Given the description of an element on the screen output the (x, y) to click on. 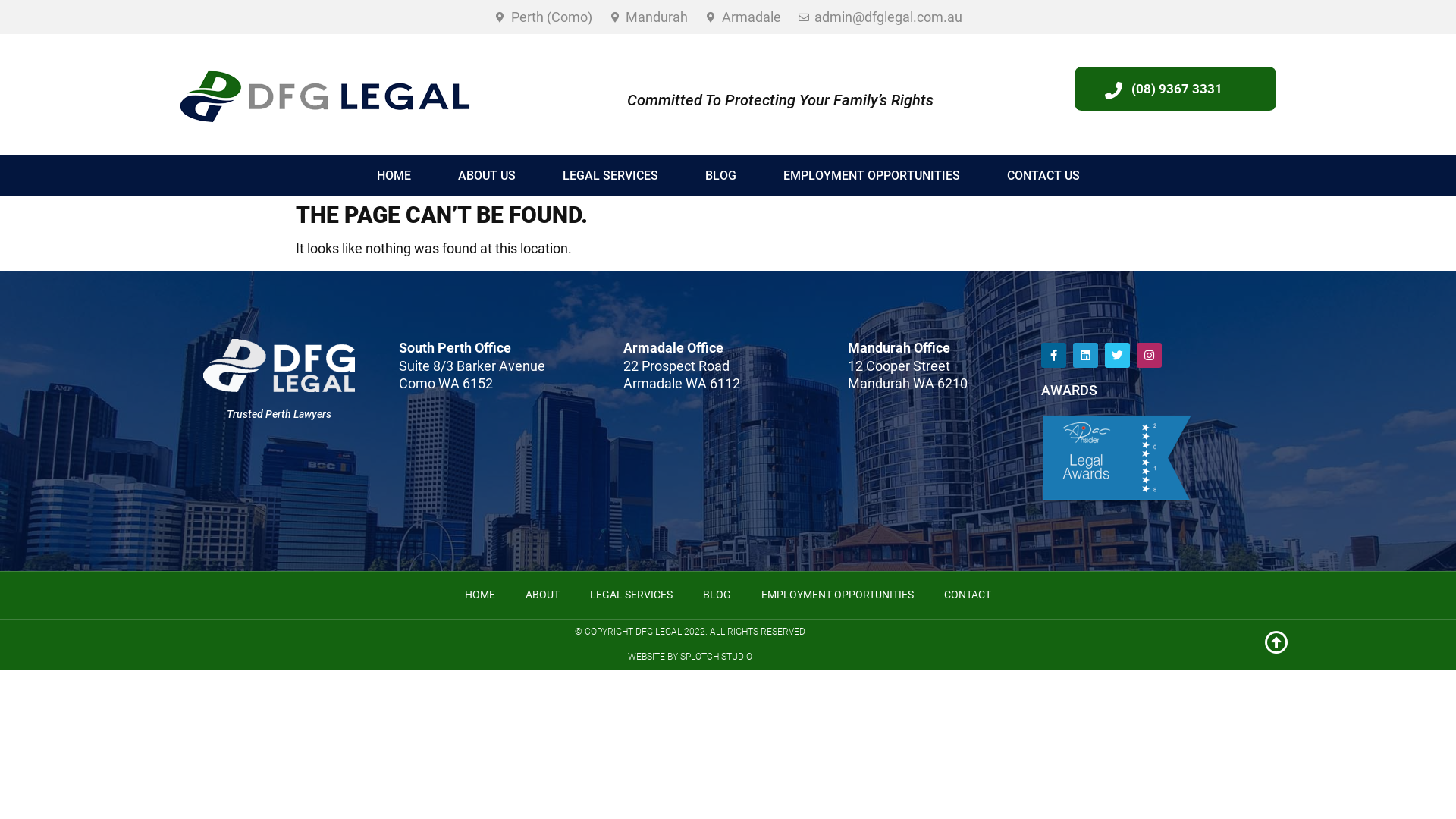
ABOUT Element type: text (542, 594)
ABOUT US Element type: text (485, 175)
admin@dfglegal.com.au Element type: text (880, 16)
Perth (Como) Element type: text (542, 16)
BLOG Element type: text (719, 175)
Mandurah Element type: text (647, 16)
WEBSITE BY SPLOTCH STUDIO Element type: text (689, 656)
HOME Element type: text (393, 175)
CONTACT Element type: text (967, 594)
(08) 9367 3331 Element type: text (1176, 88)
LEGAL SERVICES Element type: text (609, 175)
Armadale Element type: text (742, 16)
LEGAL SERVICES Element type: text (630, 594)
EMPLOYMENT OPPORTUNITIES Element type: text (837, 594)
CONTACT US Element type: text (1042, 175)
BLOG Element type: text (716, 594)
HOME Element type: text (479, 594)
EMPLOYMENT OPPORTUNITIES Element type: text (871, 175)
